Given the description of an element on the screen output the (x, y) to click on. 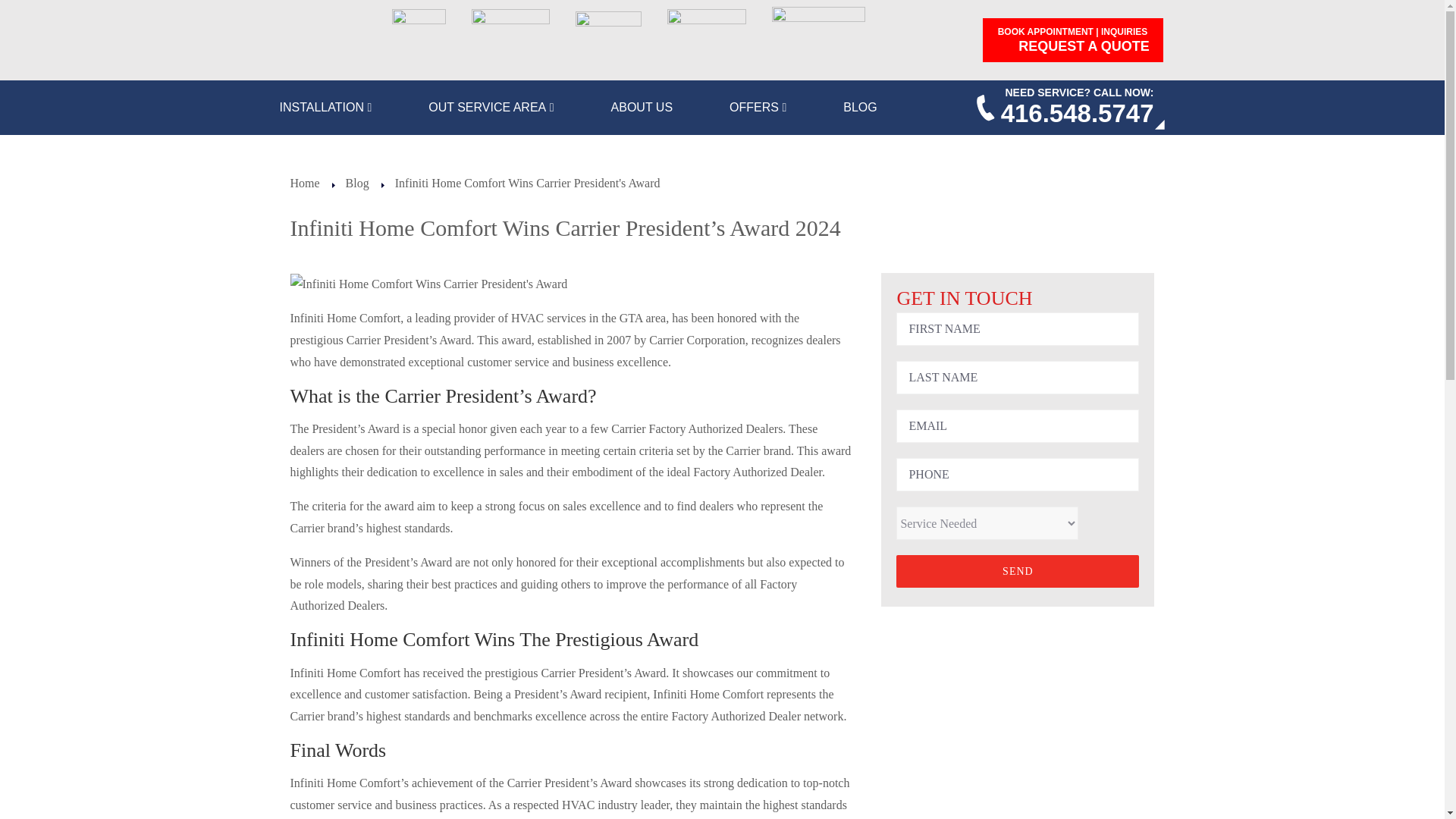
BLOG (859, 106)
ABOUT US (641, 106)
416.548.5747 (1077, 113)
Send (1017, 571)
OUT SERVICE AREA (490, 106)
INSTALLATION (325, 106)
OFFERS (757, 106)
